Given the description of an element on the screen output the (x, y) to click on. 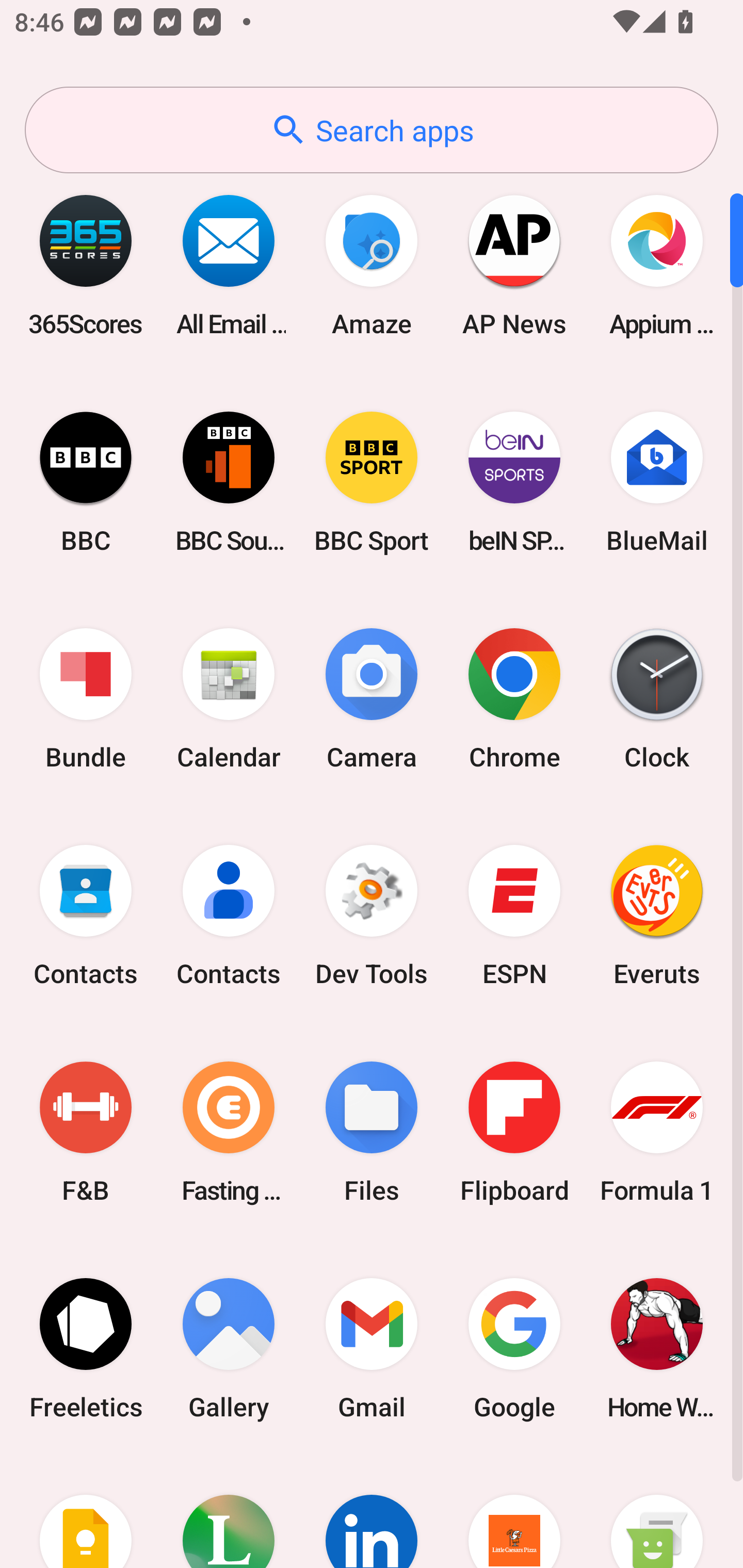
  Search apps (371, 130)
365Scores (85, 264)
All Email Connect (228, 264)
Amaze (371, 264)
AP News (514, 264)
Appium Settings (656, 264)
BBC (85, 482)
BBC Sounds (228, 482)
BBC Sport (371, 482)
beIN SPORTS (514, 482)
BlueMail (656, 482)
Bundle (85, 699)
Calendar (228, 699)
Camera (371, 699)
Chrome (514, 699)
Clock (656, 699)
Contacts (85, 915)
Contacts (228, 915)
Dev Tools (371, 915)
ESPN (514, 915)
Everuts (656, 915)
F&B (85, 1131)
Fasting Coach (228, 1131)
Files (371, 1131)
Flipboard (514, 1131)
Formula 1 (656, 1131)
Freeletics (85, 1348)
Gallery (228, 1348)
Gmail (371, 1348)
Google (514, 1348)
Home Workout (656, 1348)
Keep Notes (85, 1512)
Lifesum (228, 1512)
LinkedIn (371, 1512)
Little Caesars Pizza (514, 1512)
Messaging (656, 1512)
